Given the description of an element on the screen output the (x, y) to click on. 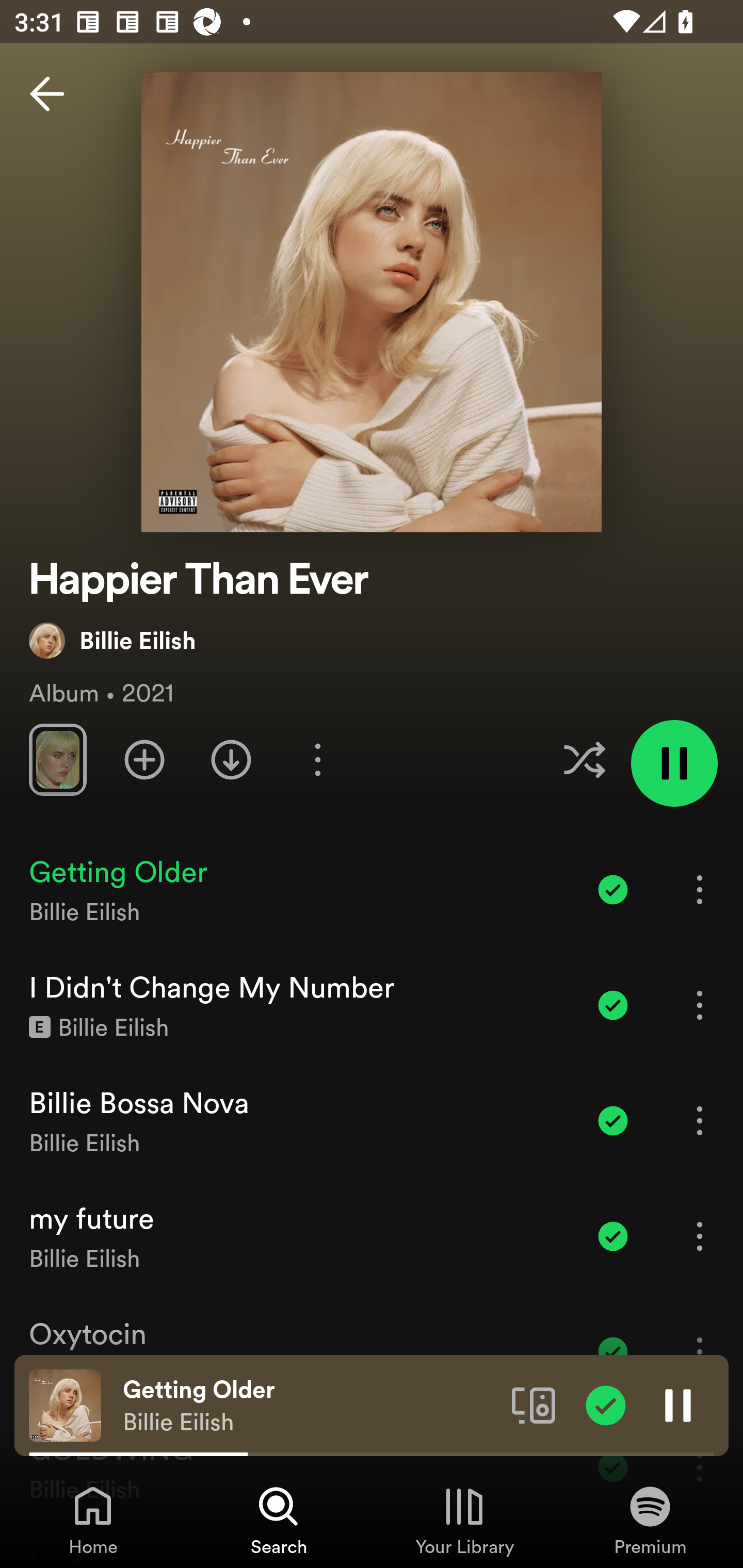
Back (46, 93)
Billie Eilish (112, 640)
Swipe through previews of tracks from this album. (57, 759)
Add playlist to Your Library (144, 759)
Download (230, 759)
More options for playlist Happier Than Ever (317, 759)
Enable shuffle for this playlist (583, 759)
Pause playlist (674, 763)
Item added (612, 889)
More options for song Getting Older (699, 889)
Item added (612, 1004)
More options for song I Didn't Change My Number (699, 1004)
Item added (612, 1120)
More options for song Billie Bossa Nova (699, 1120)
Item added (612, 1236)
More options for song my future (699, 1236)
